Given the description of an element on the screen output the (x, y) to click on. 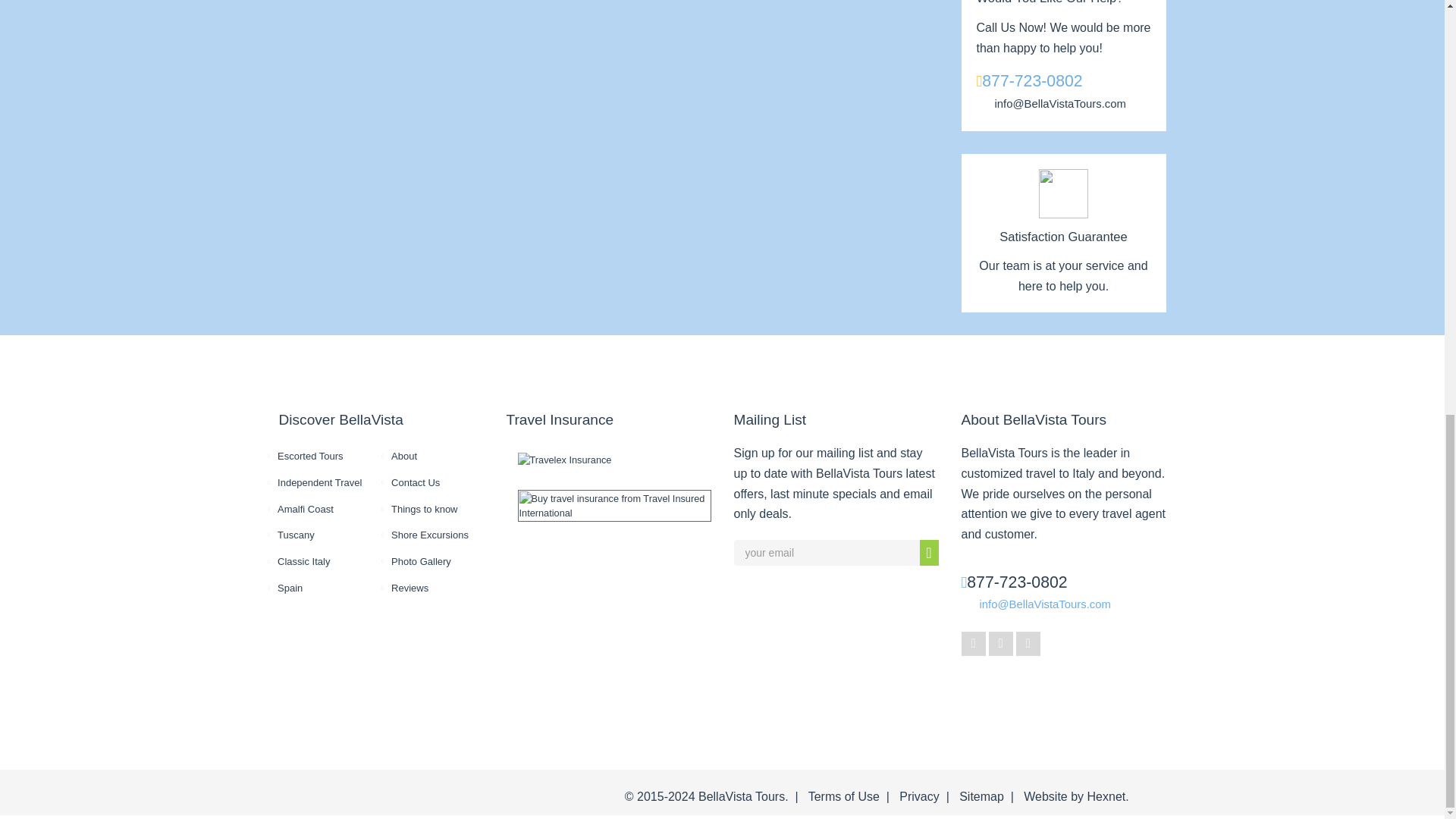
twitter (1000, 643)
BellaVista Tours - home (331, 784)
linkedin (1028, 643)
facebook (972, 643)
Website Design and Development by Hexnet Digital Marketing (1106, 796)
